Given the description of an element on the screen output the (x, y) to click on. 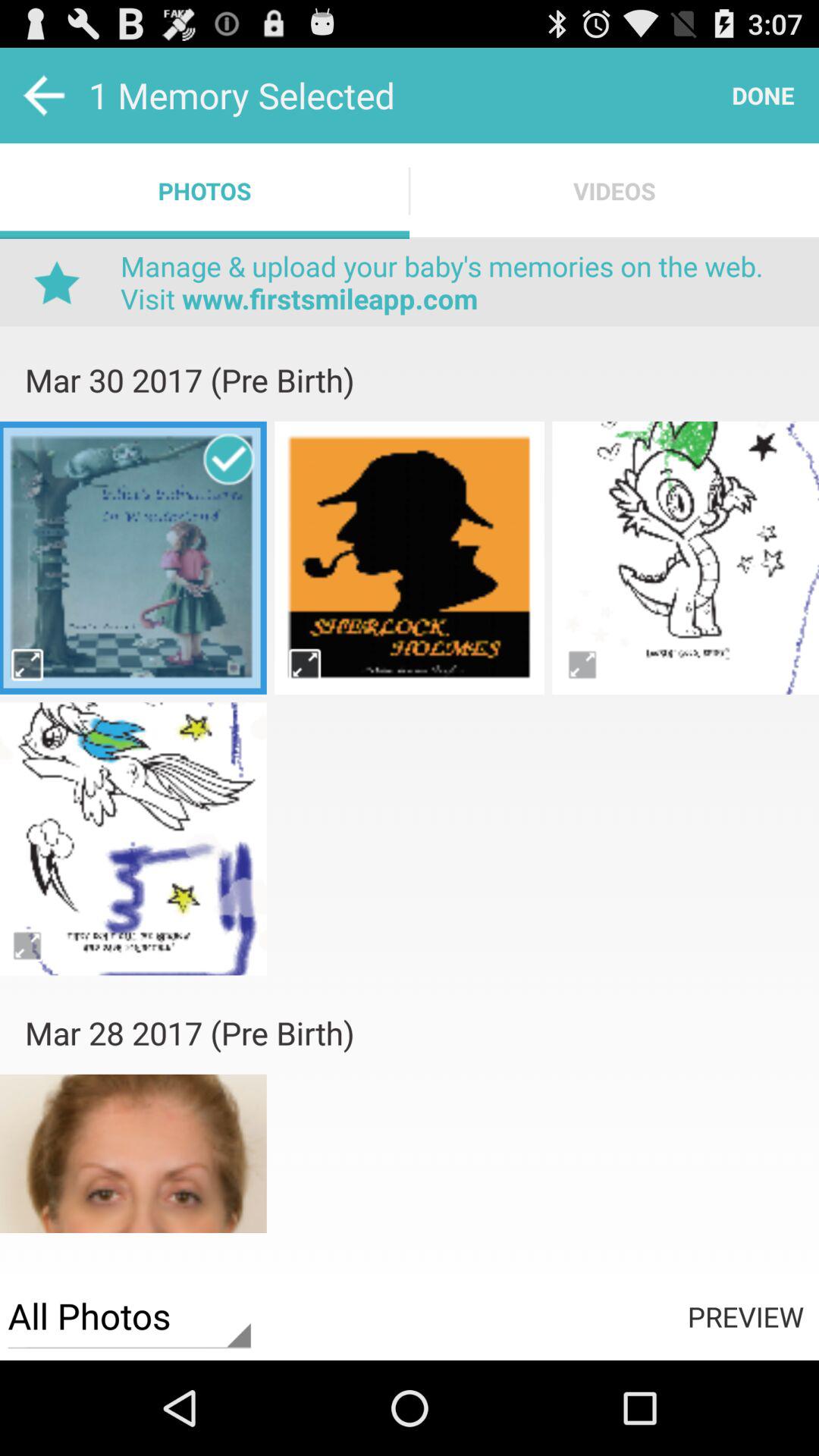
photos page (28, 945)
